Given the description of an element on the screen output the (x, y) to click on. 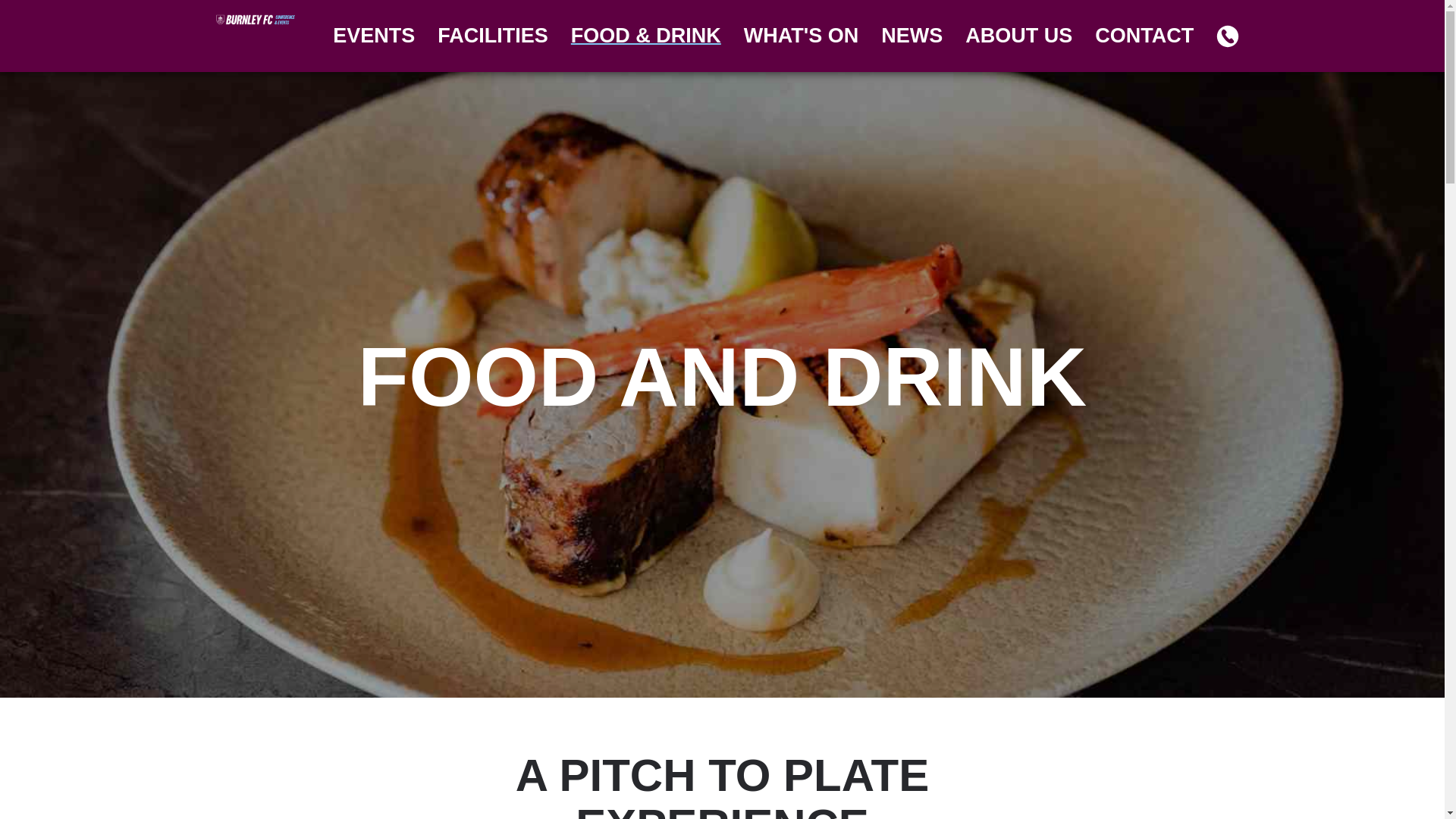
FACILITIES (493, 36)
WHAT'S ON (801, 36)
ABOUT US (1018, 36)
EVENTS (373, 36)
NEWS (911, 36)
